Given the description of an element on the screen output the (x, y) to click on. 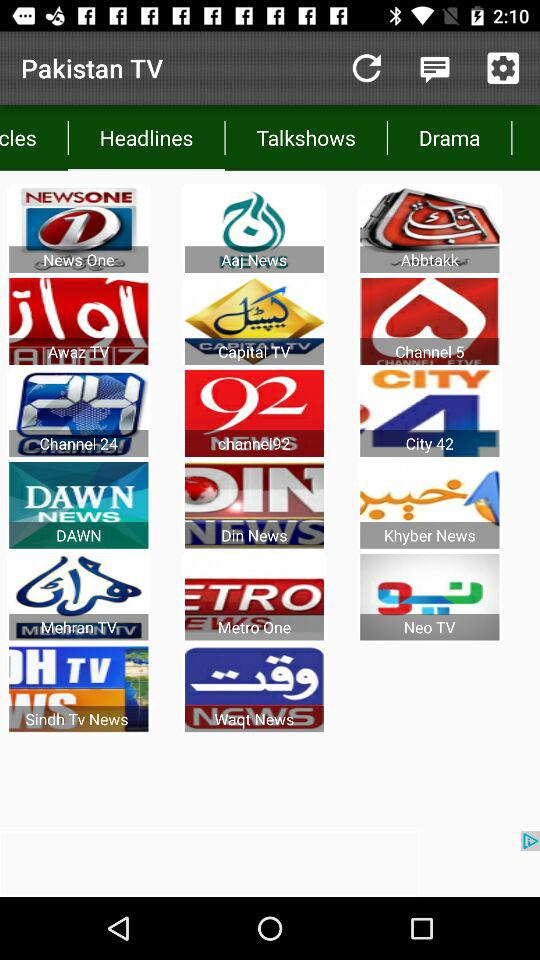
go to settings (503, 67)
